Given the description of an element on the screen output the (x, y) to click on. 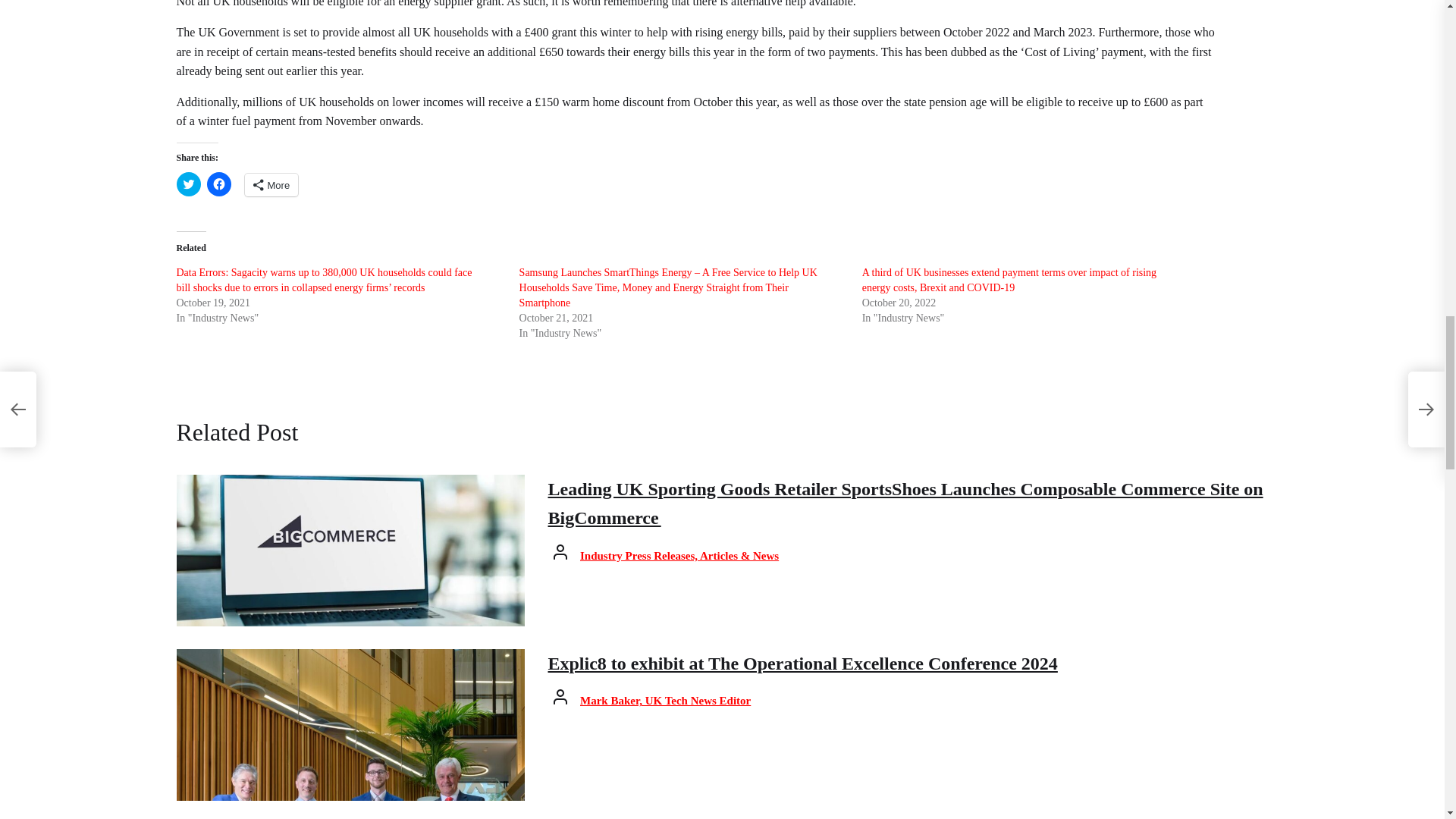
Click to share on Twitter (188, 183)
Click to share on Facebook (218, 183)
